Given the description of an element on the screen output the (x, y) to click on. 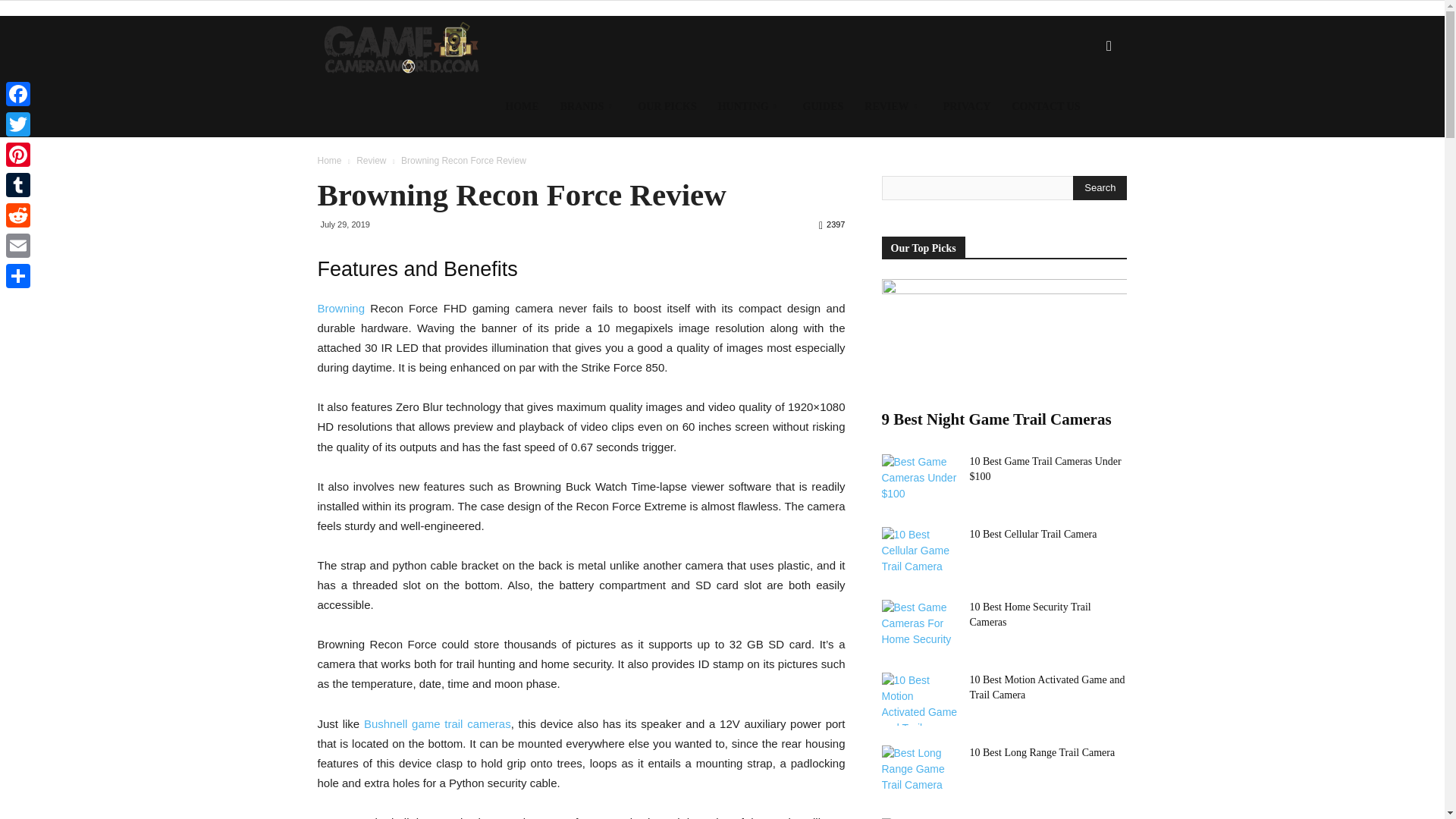
9 Best Night Game Trail Cameras (1003, 339)
Search (1099, 187)
Search (1085, 119)
9 Best Night Game Trail Cameras (995, 419)
BRANDS (588, 106)
HOME (521, 106)
View all posts in Review (370, 160)
